Given the description of an element on the screen output the (x, y) to click on. 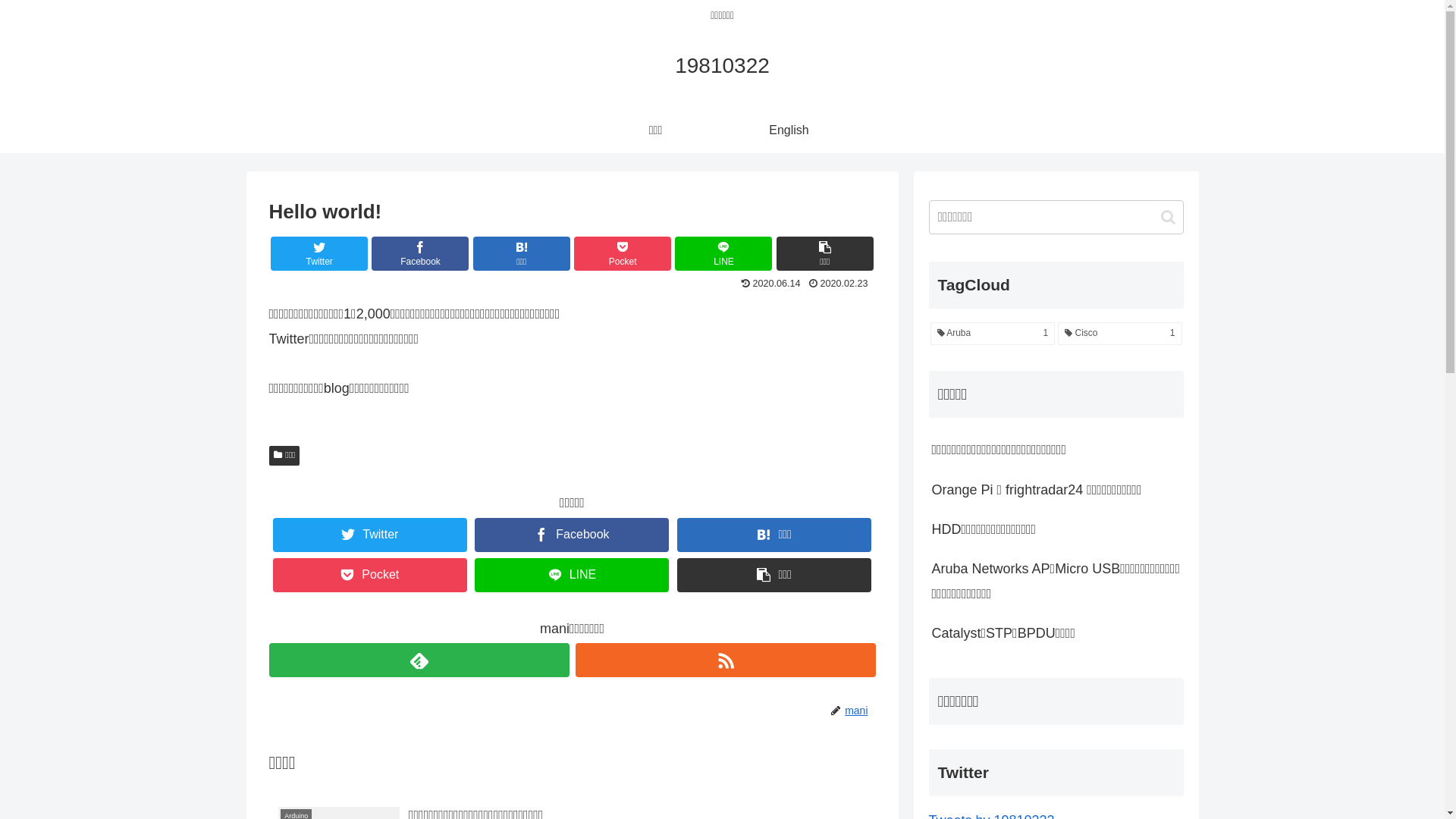
Aruba
1 Element type: text (991, 333)
LINE Element type: text (722, 253)
LINE Element type: text (571, 575)
mani Element type: text (859, 710)
Twitter Element type: text (370, 534)
Twitter Element type: text (318, 253)
Cisco
1 Element type: text (1119, 333)
Pocket Element type: text (622, 253)
19810322 Element type: text (722, 67)
Pocket Element type: text (370, 575)
Facebook Element type: text (419, 253)
Facebook Element type: text (571, 534)
English Element type: text (788, 130)
